Given the description of an element on the screen output the (x, y) to click on. 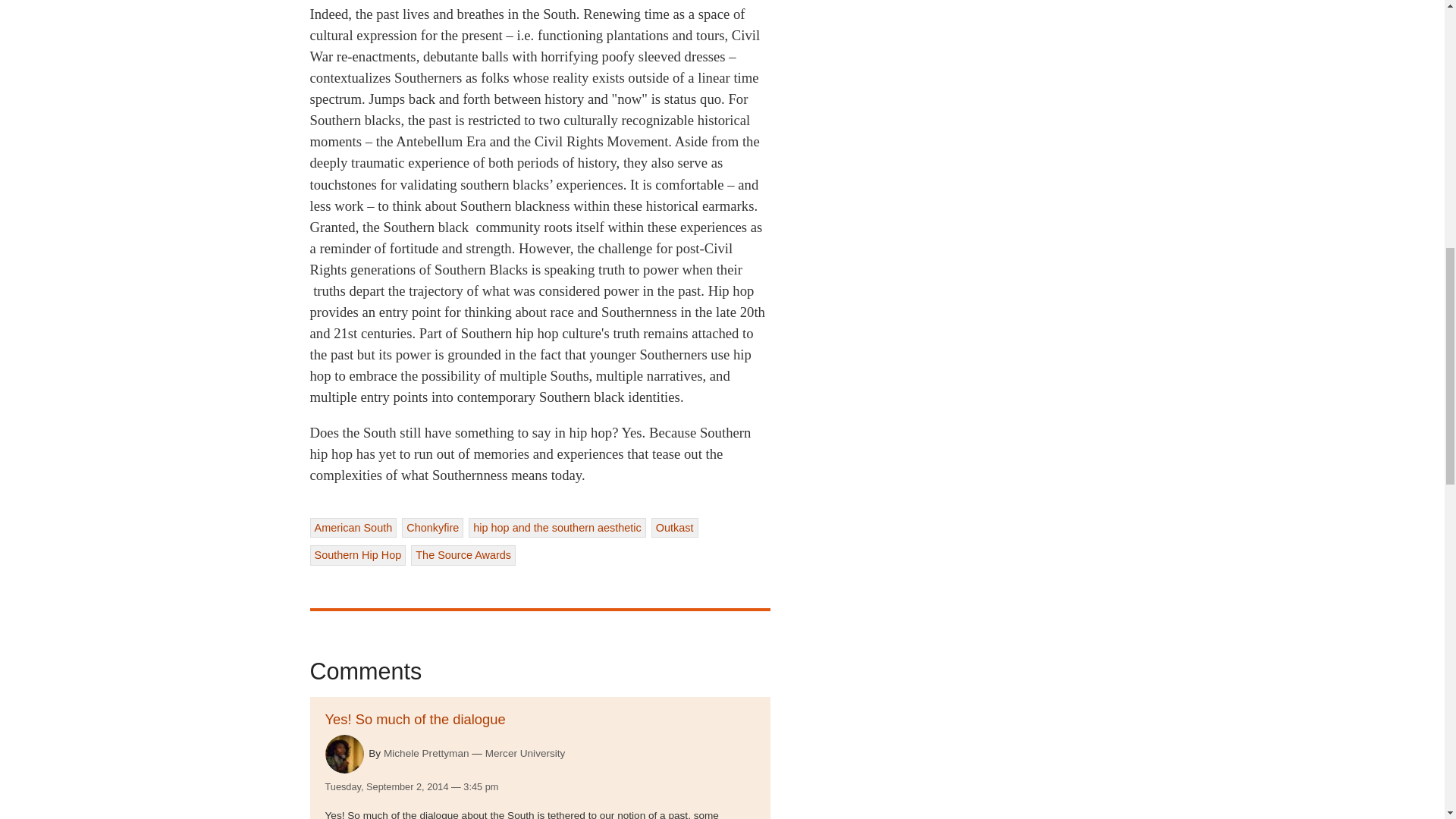
Yes! So much of the dialogue (414, 719)
Michele Prettyman (426, 753)
View user profile. (343, 753)
Southern Hip Hop (357, 555)
Outkast (674, 527)
User profile: Michele Prettyman (426, 753)
Chonkyfire (432, 527)
American South (352, 527)
The Source Awards (462, 555)
Mercer University (525, 753)
